Given the description of an element on the screen output the (x, y) to click on. 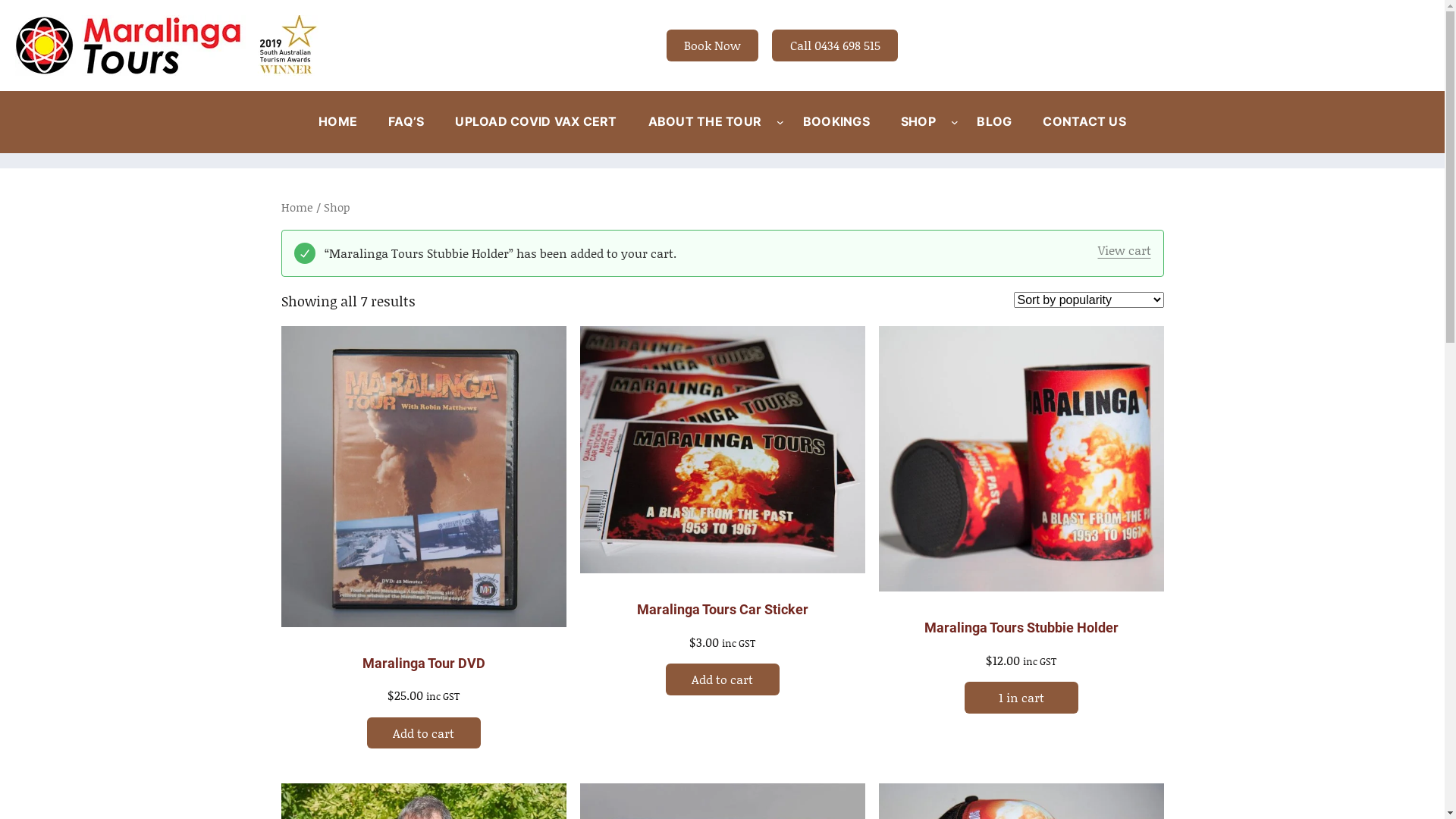
Home Element type: text (296, 206)
UPLOAD COVID VAX CERT Element type: text (535, 122)
Book Now Element type: text (712, 44)
SHOP Element type: text (917, 122)
ABOUT THE TOUR Element type: text (705, 122)
HOME Element type: text (337, 122)
Maralinga Tour DVD Element type: text (423, 662)
Maralinga Tours Car Sticker Element type: text (722, 609)
1 in cart Element type: text (1021, 697)
BOOKINGS Element type: text (835, 122)
CONTACT US Element type: text (1084, 122)
Call 0434 698 515 Element type: text (834, 44)
Add to cart Element type: text (423, 733)
Add to cart Element type: text (722, 679)
Maralinga Tours Stubbie Holder Element type: text (1020, 627)
BLOG Element type: text (993, 122)
View cart Element type: text (1124, 250)
